Given the description of an element on the screen output the (x, y) to click on. 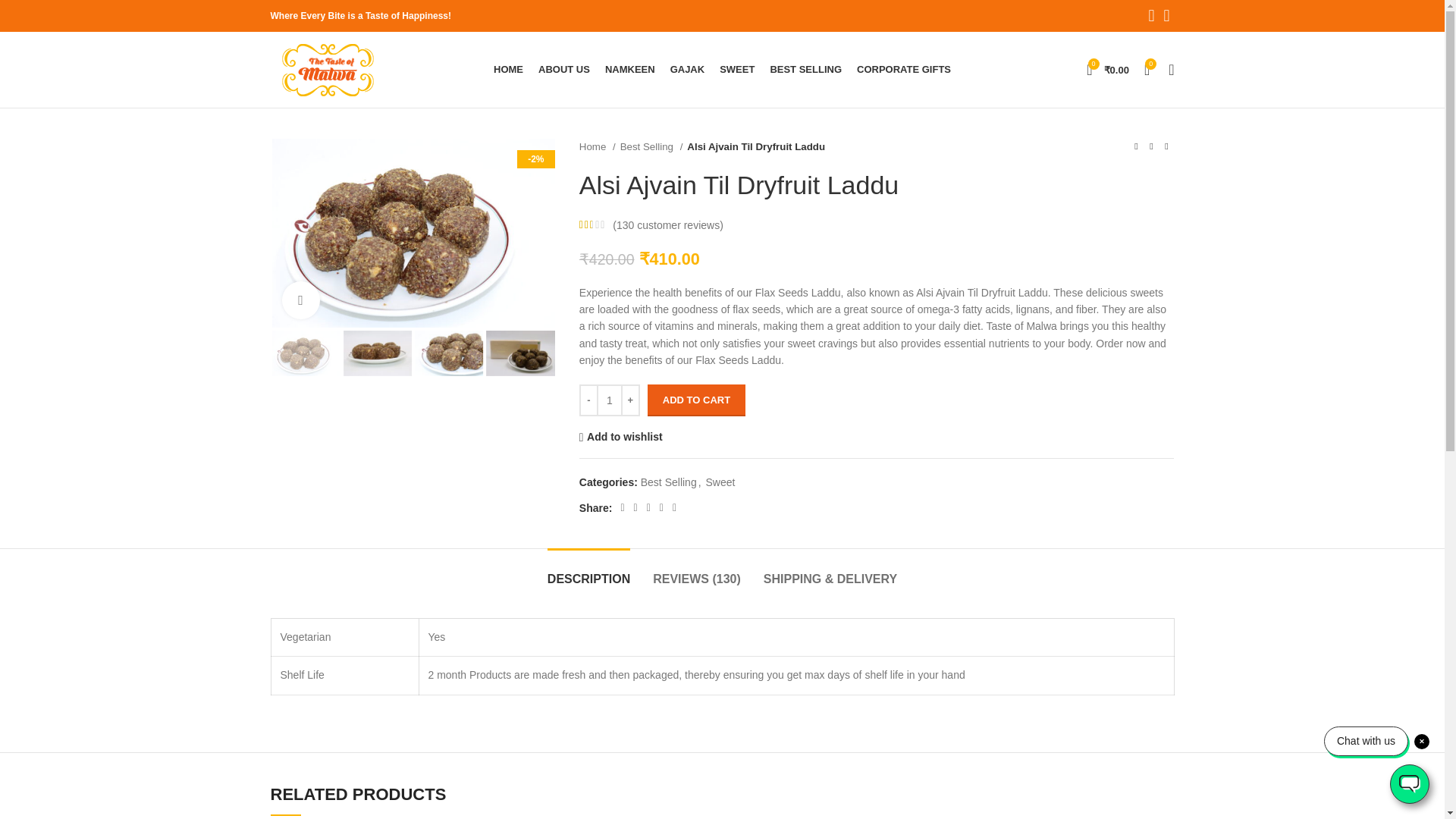
NAMKEEN (630, 69)
- (588, 400)
SWEET (736, 69)
HOME (507, 69)
Best Selling (651, 146)
BEST SELLING (805, 69)
Alsi Ajvain Til Dryfruit Laddu (412, 232)
My Wishlist (1147, 69)
CORPORATE GIFTS (903, 69)
GAJAK (686, 69)
Home (597, 146)
Qty (609, 400)
My account (1170, 69)
Shopping cart (1107, 69)
0 (1147, 69)
